Given the description of an element on the screen output the (x, y) to click on. 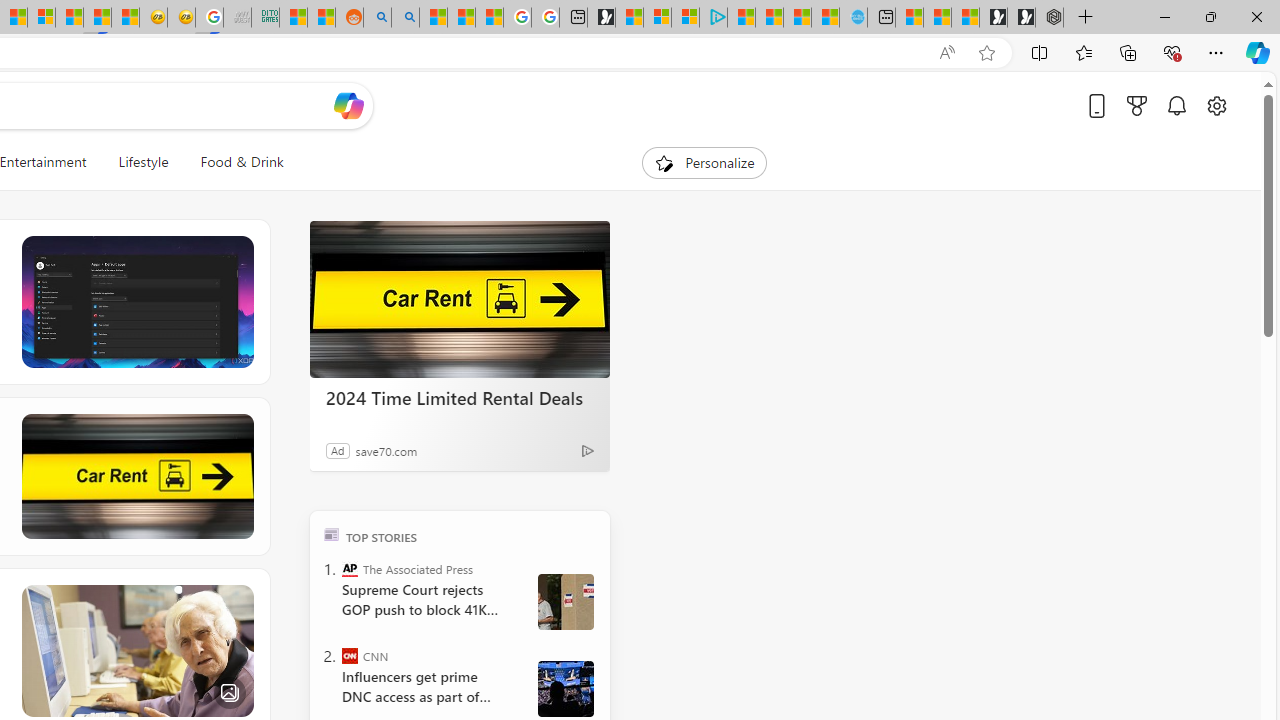
 ATS_2336.jpg (565, 688)
CNN (349, 655)
2024 Time Limited Rental Deals (459, 397)
